Given the description of an element on the screen output the (x, y) to click on. 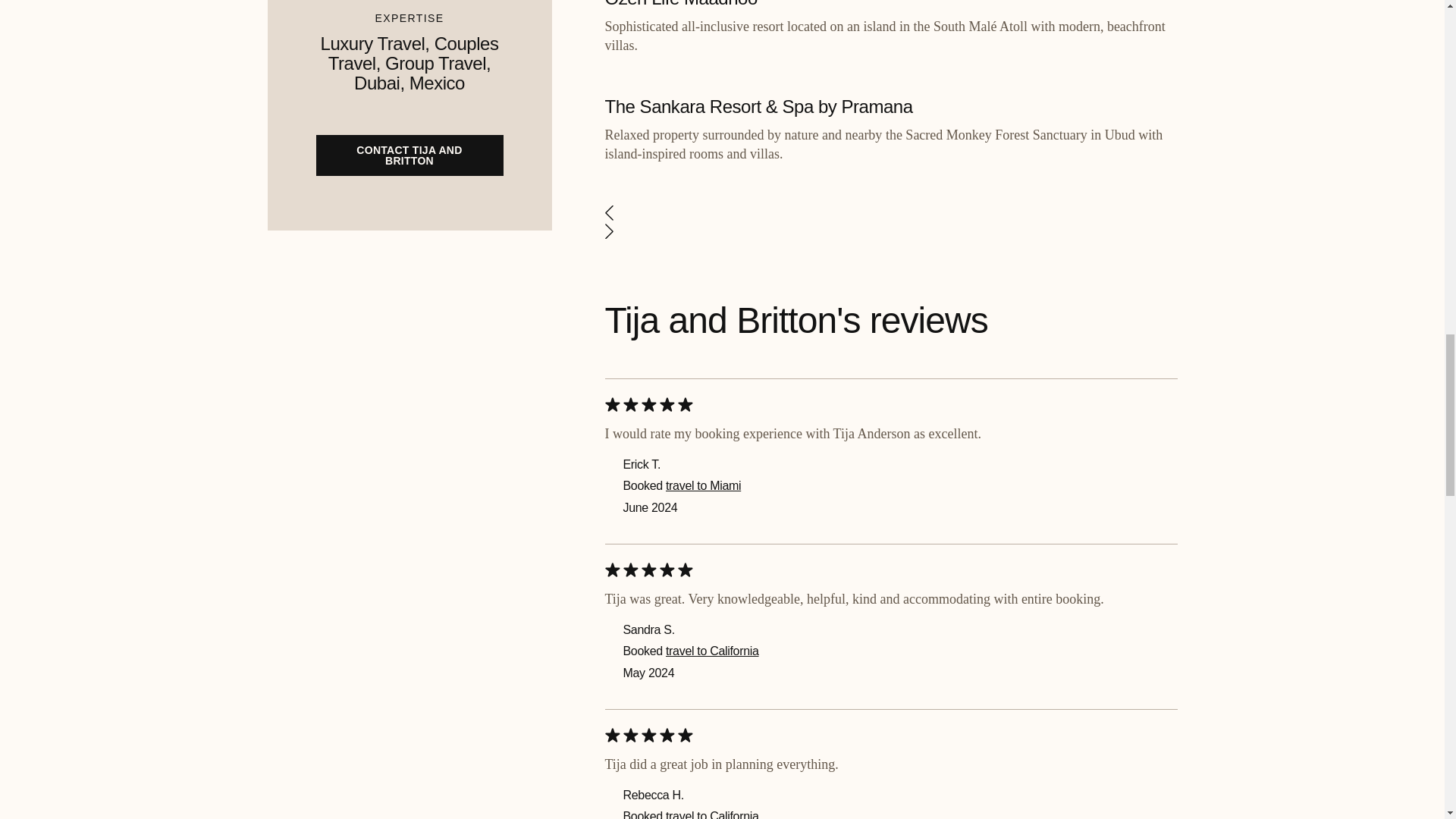
travel to Miami (703, 485)
travel to California (711, 814)
travel to California (711, 650)
